Given the description of an element on the screen output the (x, y) to click on. 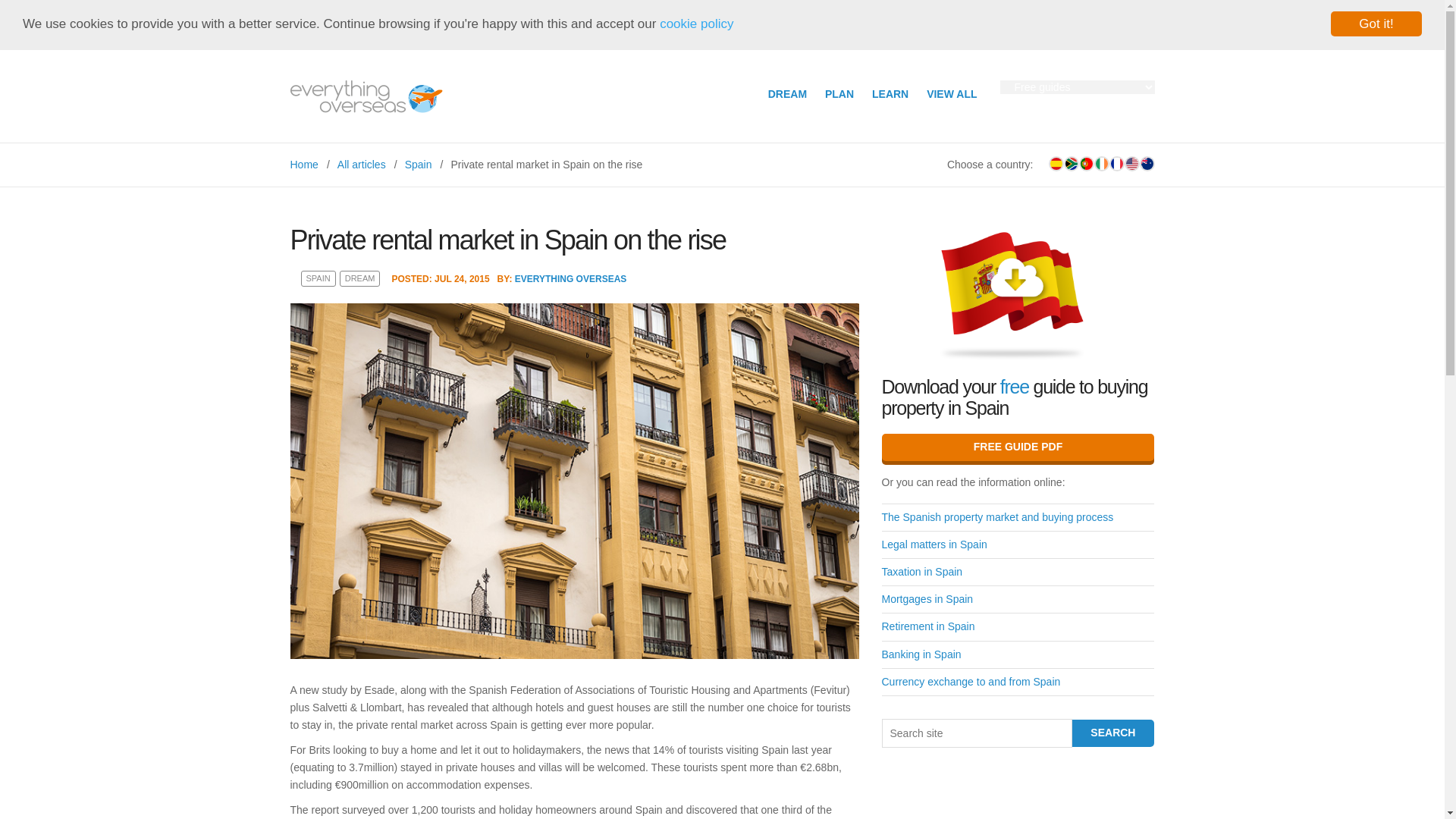
Buying in France (1116, 163)
Go to the Spain category archives. (418, 164)
Buying in Florida (1131, 163)
All articles (361, 164)
LEARN (890, 93)
Search (1112, 732)
EVERYTHING OVERSEAS (571, 278)
Buying in Spain (1055, 163)
Buying in Portugal (1085, 163)
VIEW ALL (951, 93)
PLAN (839, 93)
Spain (418, 164)
Home (303, 164)
Posts by Everything Overseas (571, 278)
Go to All articles. (361, 164)
